Given the description of an element on the screen output the (x, y) to click on. 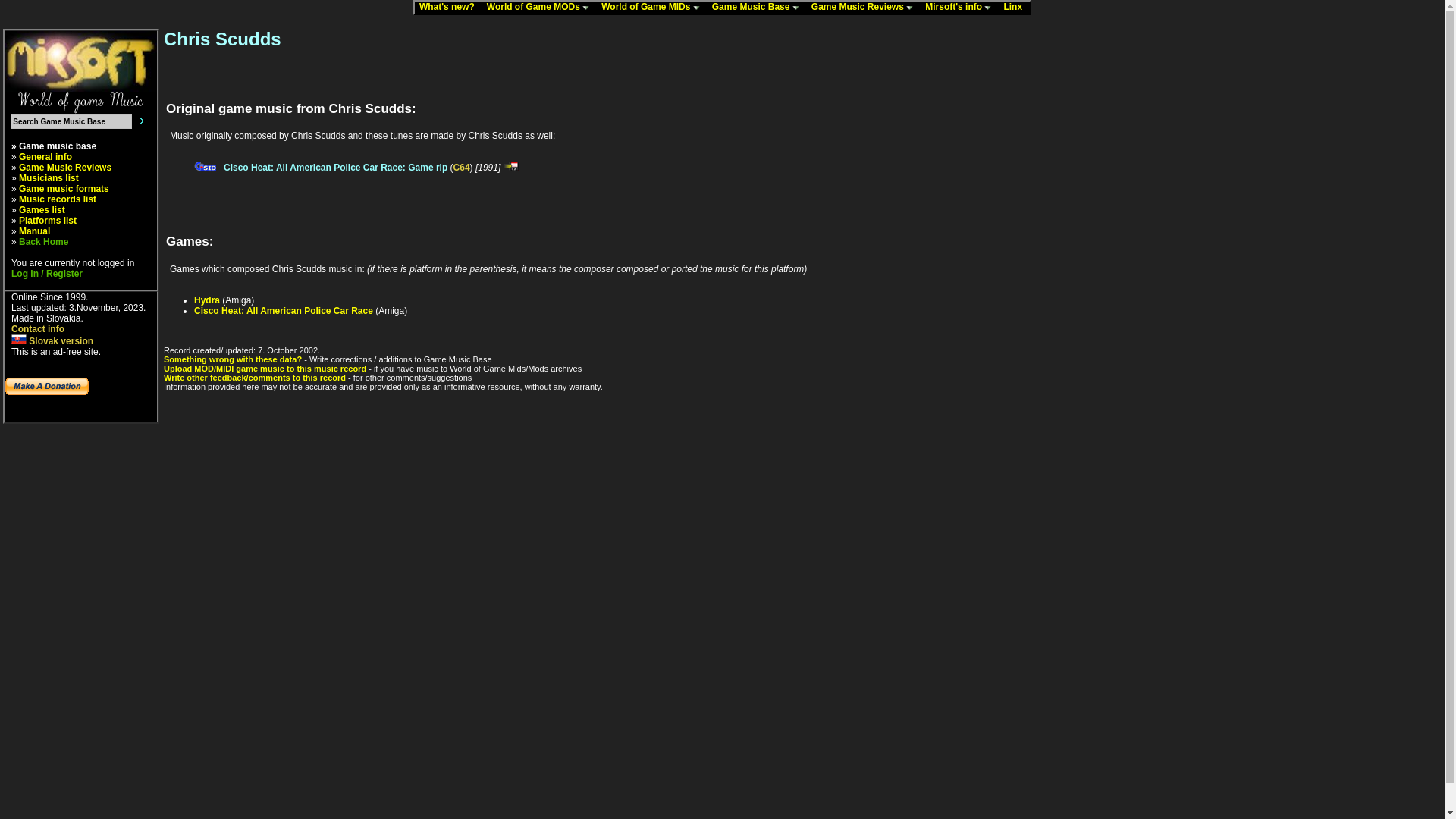
World of Game MODs     (538, 7)
Info about all what happened last time (447, 7)
Game Music Reviews     (863, 7)
What's new?    (447, 7)
Linx    (1013, 7)
World of Game MIDs     (651, 7)
Game midis for download (651, 7)
Mirsoft's info     (959, 7)
Game Music Base     (756, 7)
Search Game Music Base (71, 120)
Game music modules for download (538, 7)
Database of Games, Games music and Soundtracks (756, 7)
Search Game Music Base (71, 120)
Links and sources for the pages (1013, 7)
